Given the description of an element on the screen output the (x, y) to click on. 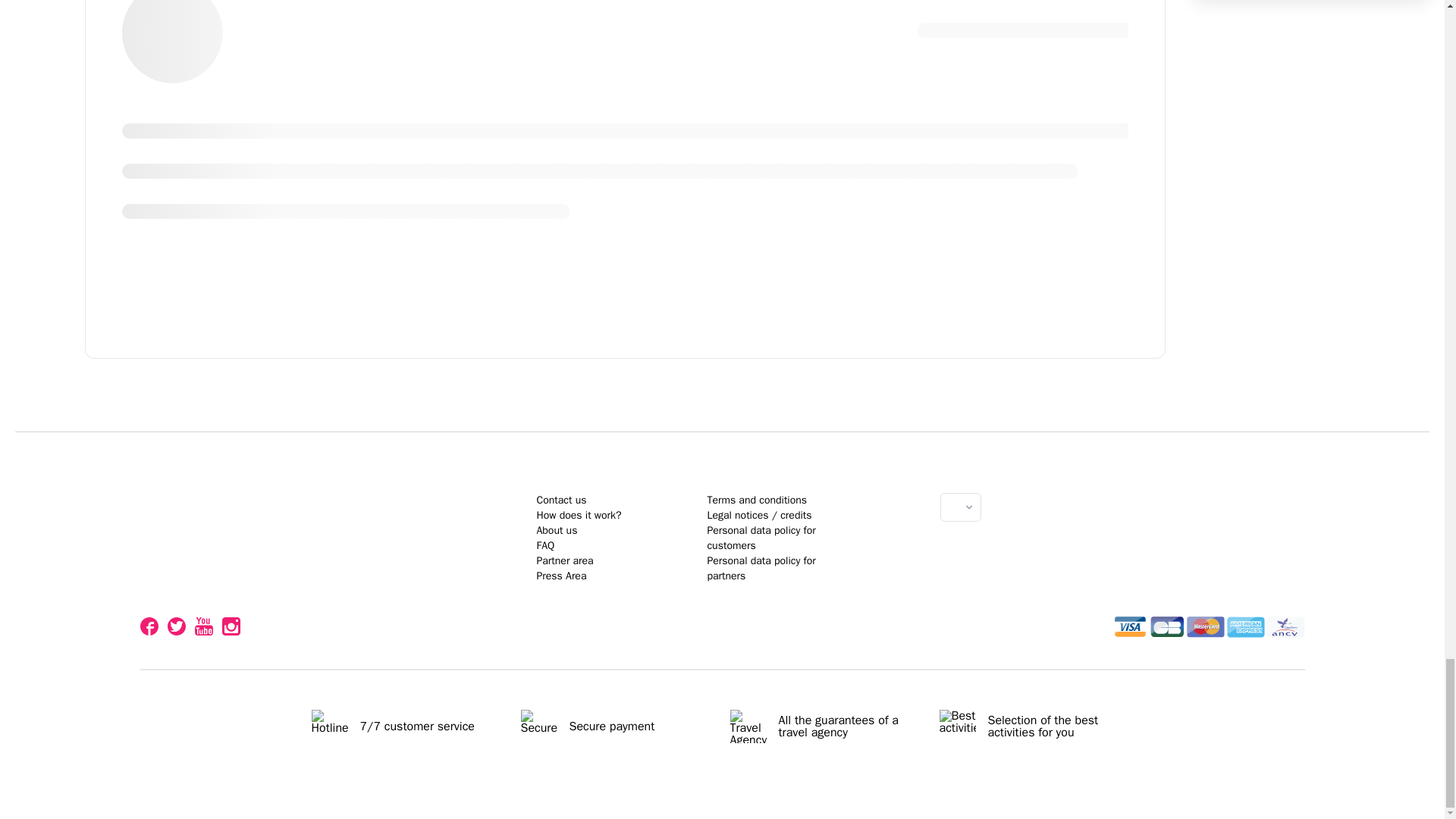
FAQ (544, 545)
Partner area (721, 613)
Contact us (563, 560)
How does it work? (560, 499)
About us (578, 514)
